Given the description of an element on the screen output the (x, y) to click on. 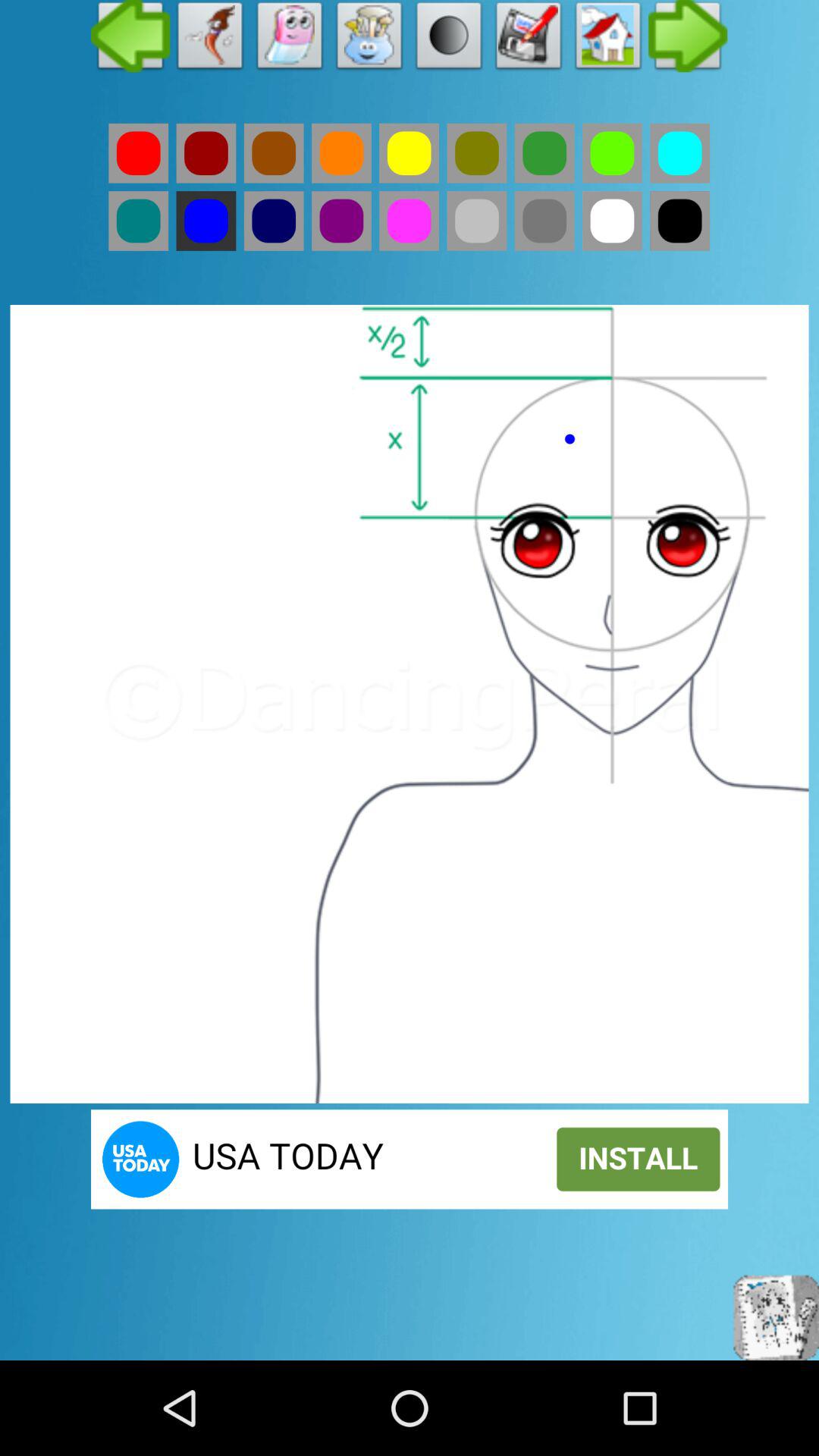
green (476, 153)
